Given the description of an element on the screen output the (x, y) to click on. 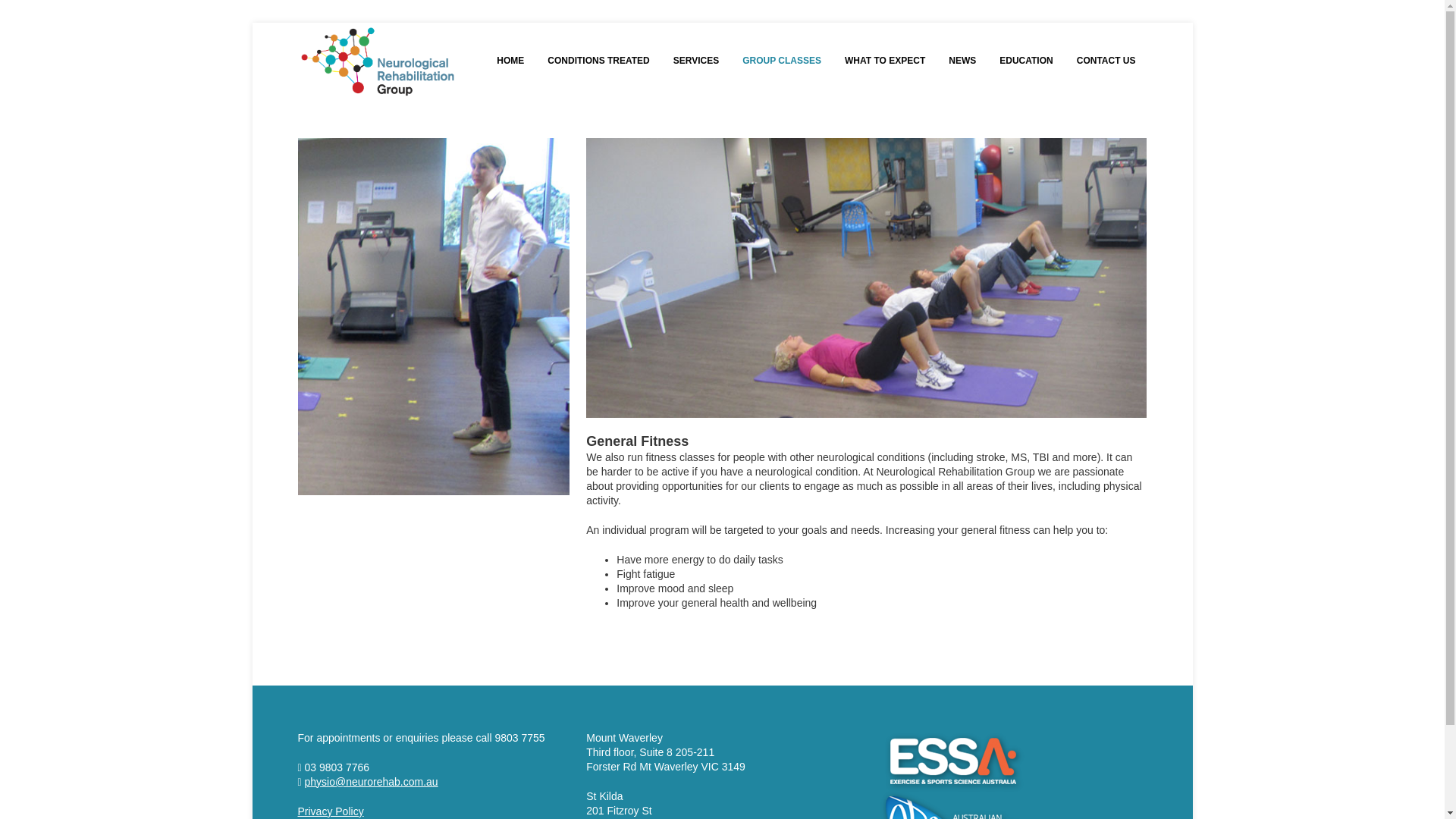
SERVICES Element type: text (696, 59)
GROUP CLASSES Element type: text (781, 59)
physio@neurorehab.com.au Element type: text (371, 781)
CONTACT US Element type: text (1106, 59)
HOME Element type: text (510, 59)
CONDITIONS TREATED Element type: text (598, 59)
NEWS Element type: text (962, 59)
WHAT TO EXPECT Element type: text (884, 59)
EDUCATION Element type: text (1025, 59)
The Neurological Rehabilitation Group Element type: hover (375, 60)
Privacy Policy Element type: text (330, 811)
